Given the description of an element on the screen output the (x, y) to click on. 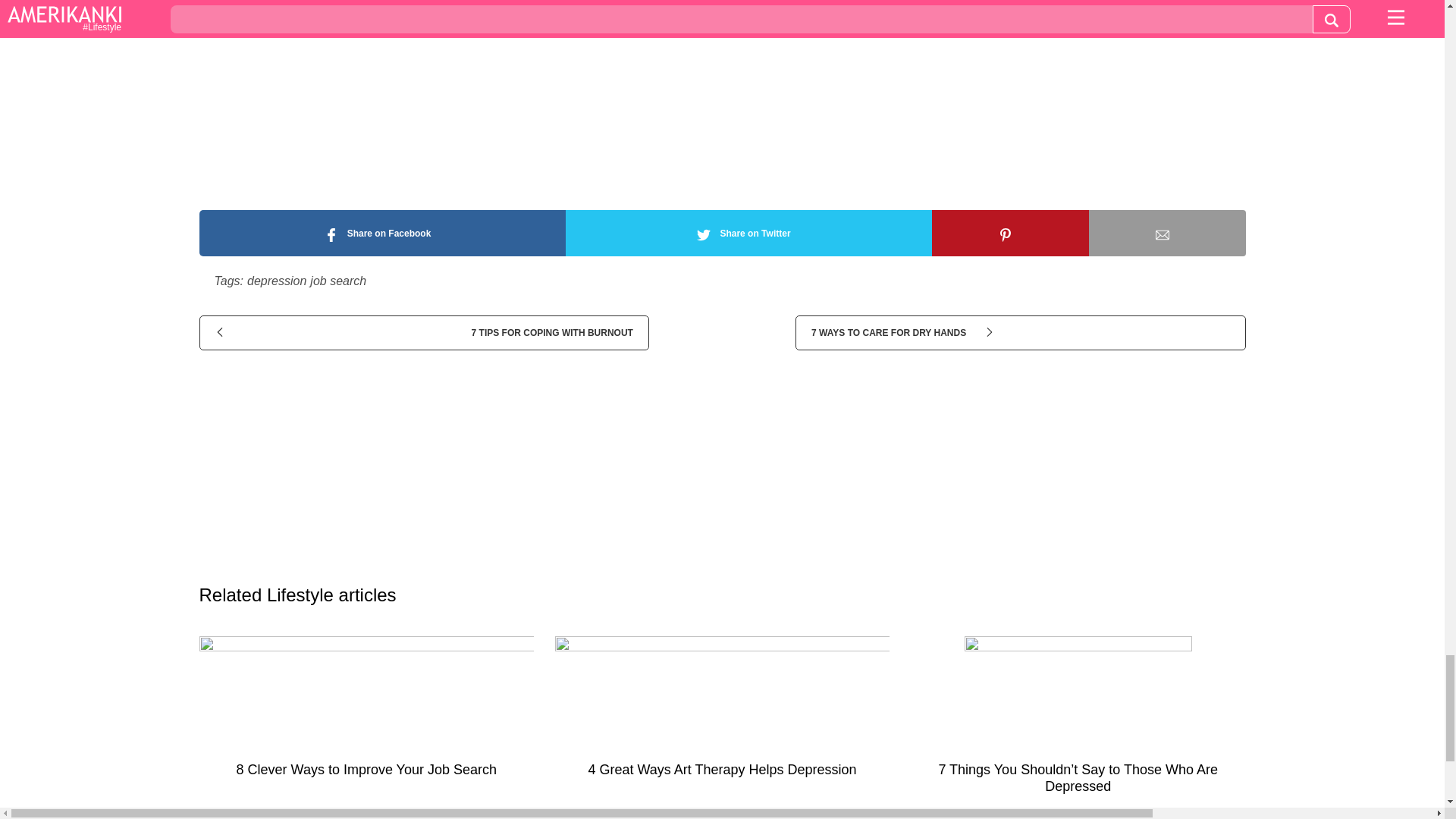
8 Clever Ways to Improve Your Job Search (366, 713)
7 Ways to Care for Dry Hands (1019, 332)
Share on Facebook (381, 232)
Share on Twitter (748, 232)
7 WAYS TO CARE FOR DRY HANDS (1019, 332)
7 TIPS FOR COPING WITH BURNOUT (422, 332)
7 Tips for Coping with Burnout (422, 332)
4 Great Ways Art Therapy Helps Depression (721, 713)
